Given the description of an element on the screen output the (x, y) to click on. 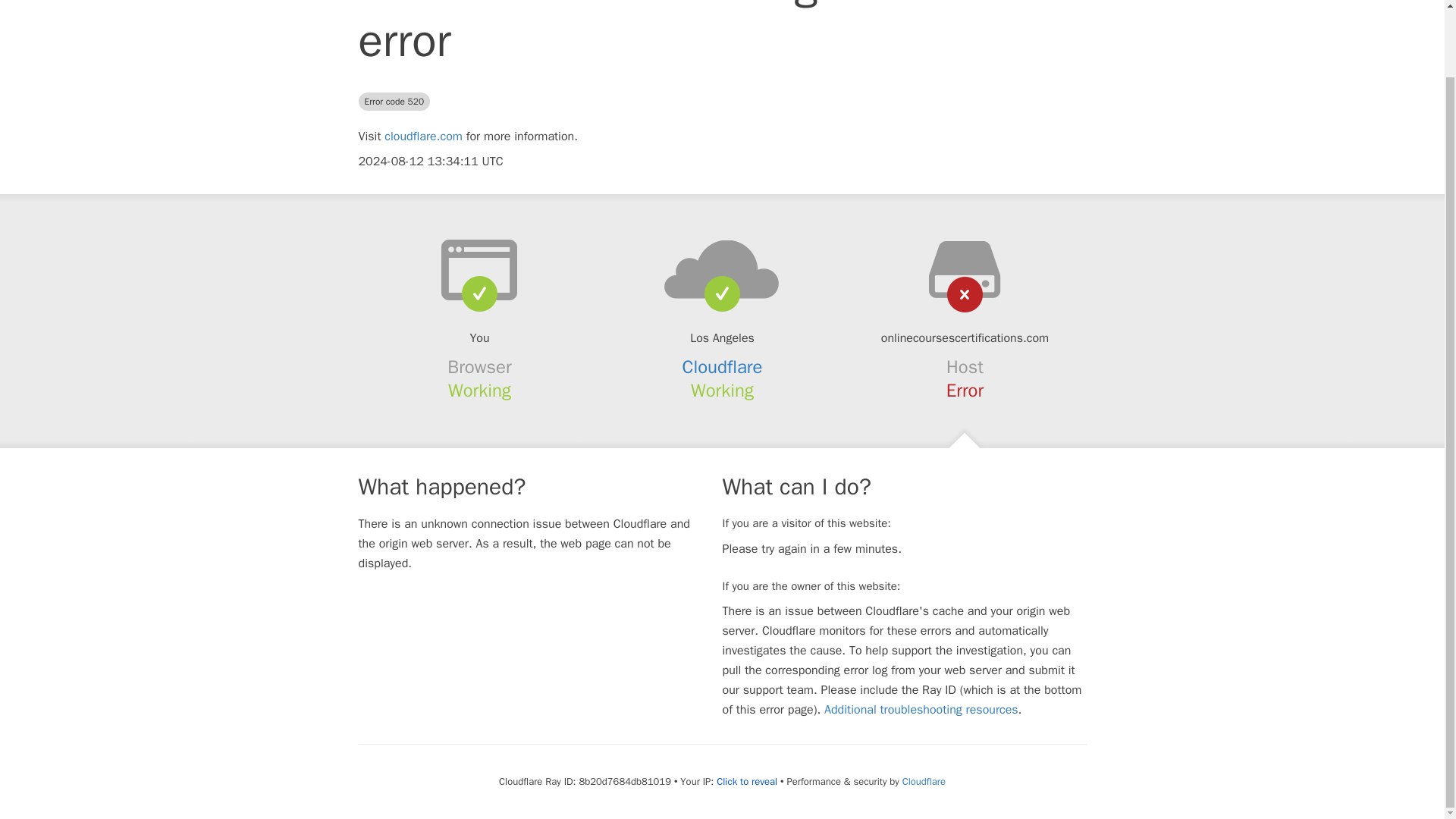
Cloudflare (923, 780)
Click to reveal (746, 781)
cloudflare.com (423, 136)
Additional troubleshooting resources (920, 709)
Cloudflare (722, 366)
